Given the description of an element on the screen output the (x, y) to click on. 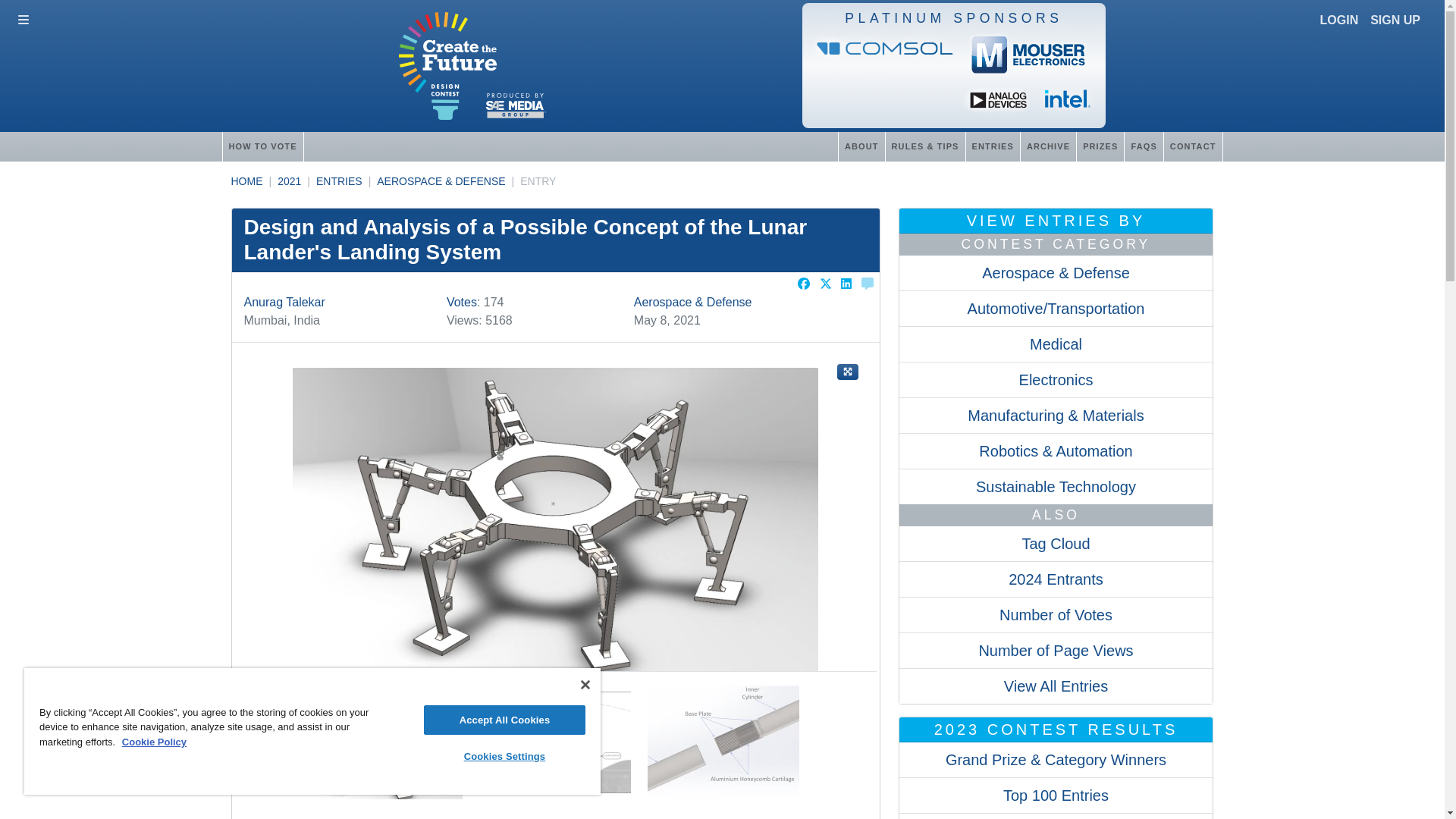
ENTRIES (992, 146)
ENTRIES (338, 181)
Votes (461, 301)
LOGIN (1339, 20)
ABOUT (861, 146)
ARCHIVE (1047, 146)
FAQS (1142, 146)
2021 (289, 181)
PRIZES (1099, 146)
CONTACT (1193, 146)
